Given the description of an element on the screen output the (x, y) to click on. 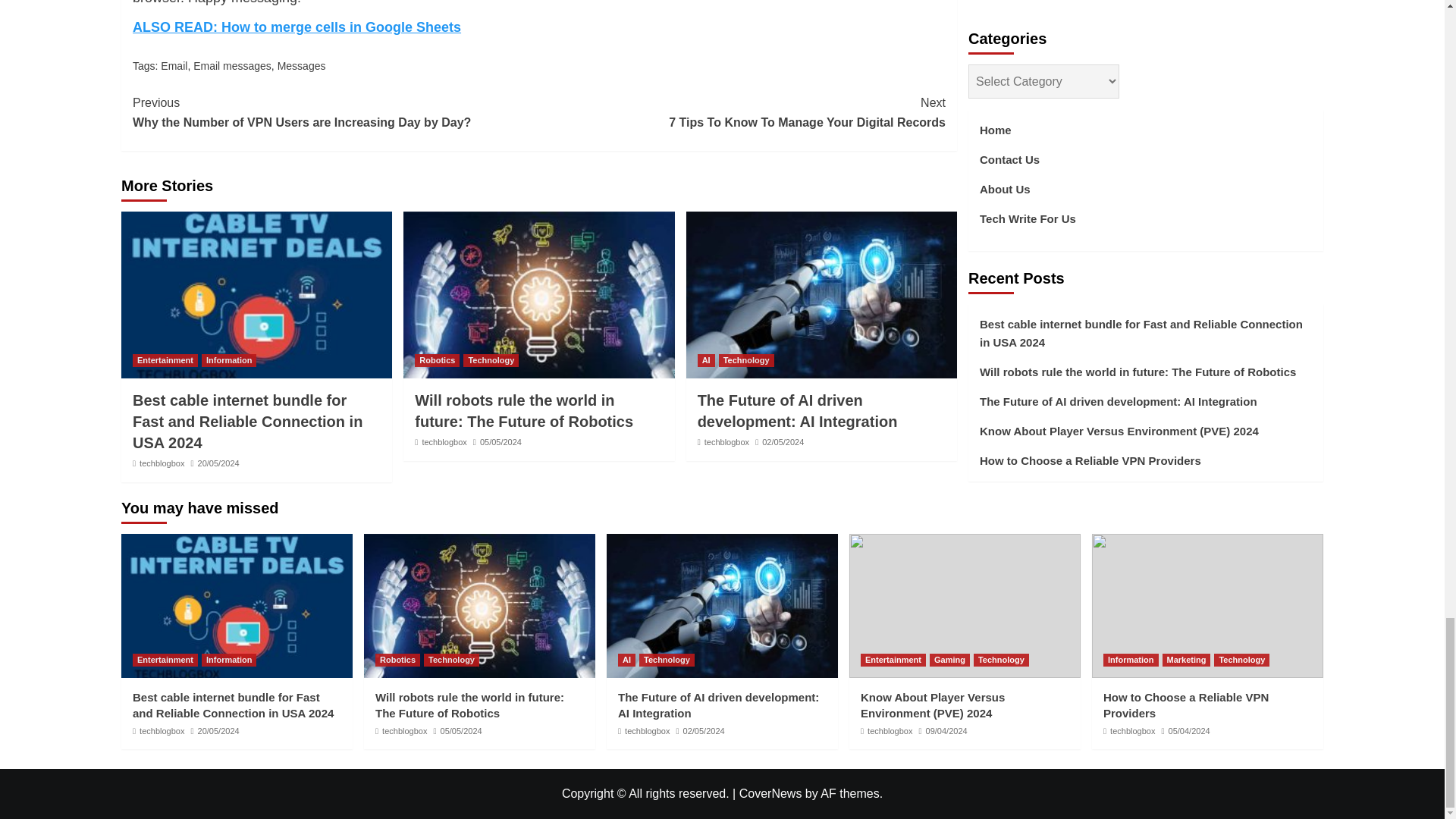
Email (173, 65)
Entertainment (165, 359)
ALSO READ: How to merge cells in Google Sheets (741, 112)
techblogbox (296, 27)
Messages (161, 462)
Email messages (302, 65)
Technology (231, 65)
Information (490, 359)
Robotics (229, 359)
